Given the description of an element on the screen output the (x, y) to click on. 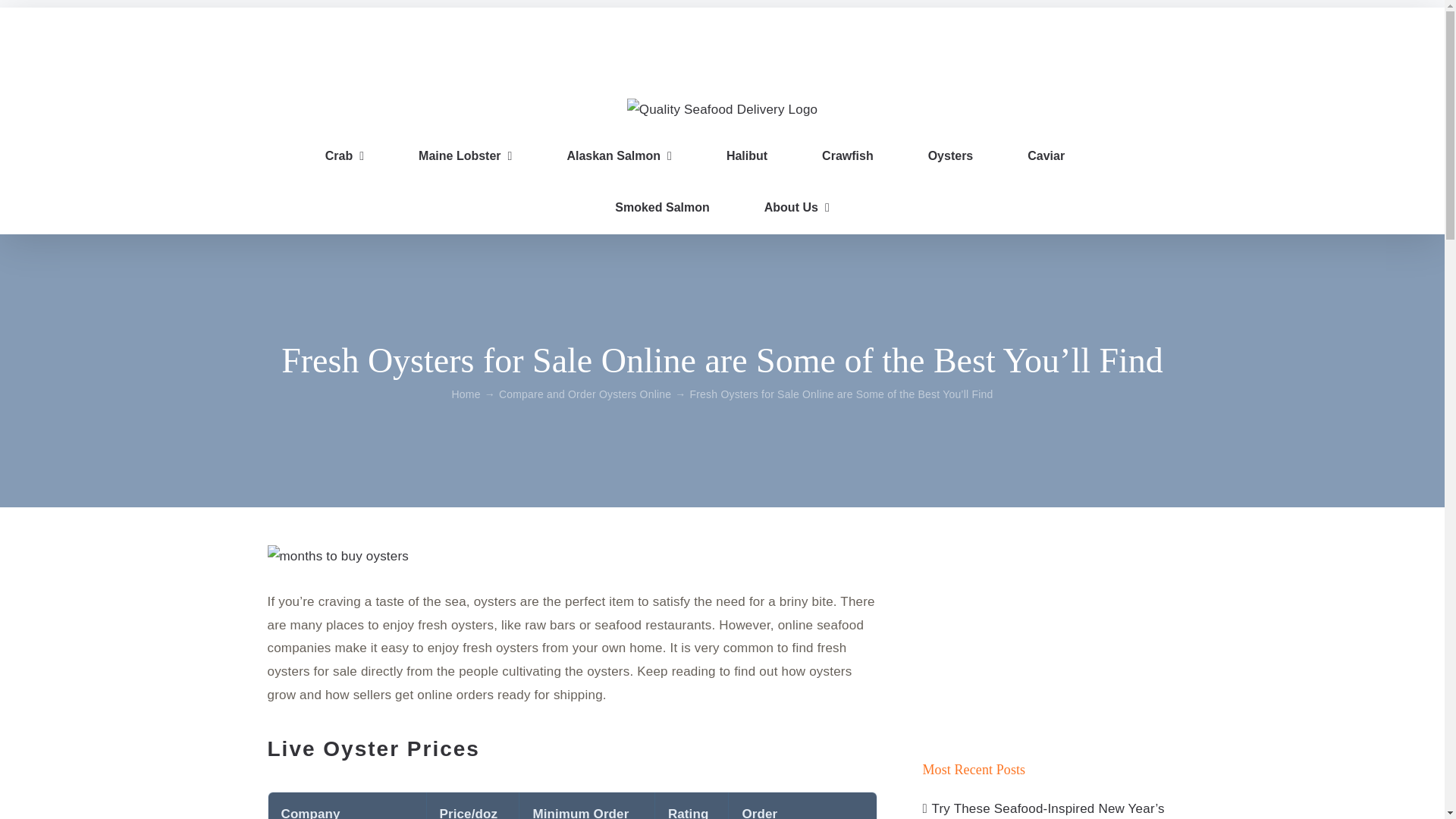
Smoked Salmon (661, 207)
Maine Lobster (465, 155)
About Us (796, 207)
Alaskan Salmon (618, 155)
Crawfish (847, 155)
